Given the description of an element on the screen output the (x, y) to click on. 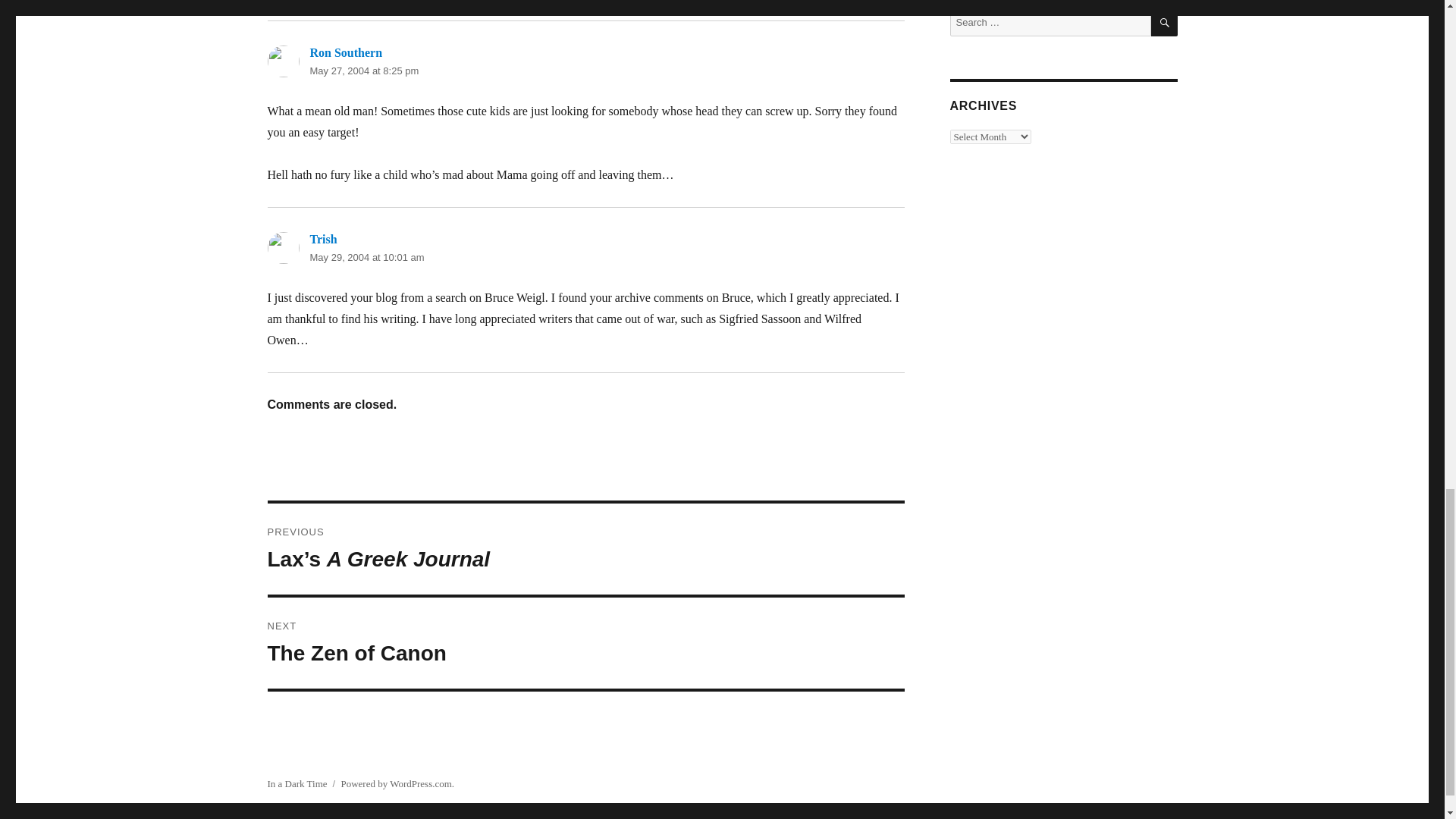
Ron Southern (585, 642)
Trish (344, 51)
May 29, 2004 at 10:01 am (322, 238)
May 27, 2004 at 8:25 pm (365, 256)
